Given the description of an element on the screen output the (x, y) to click on. 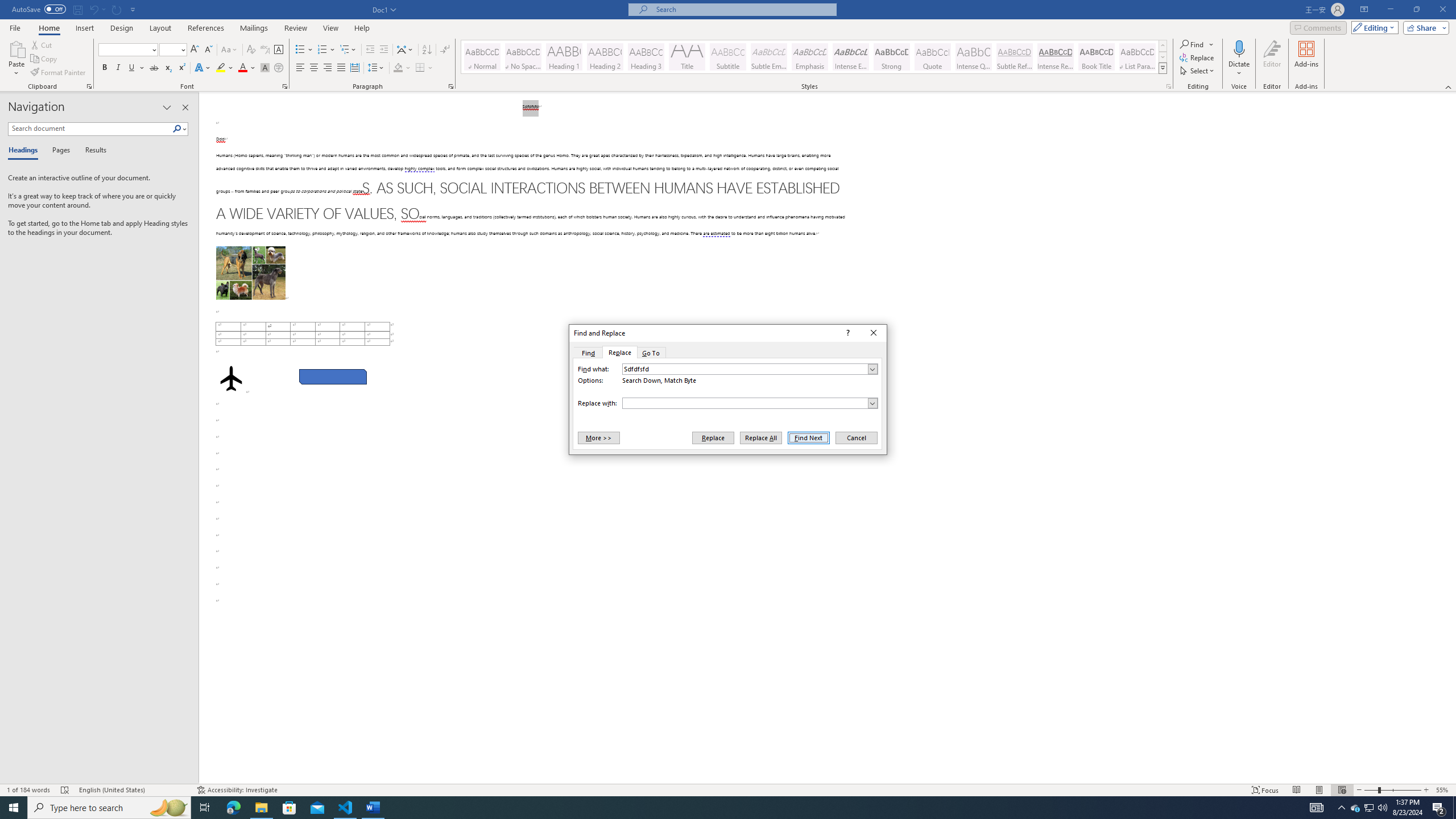
User Promoted Notification Area (1368, 807)
Replace (713, 437)
Character Border (278, 49)
Quote (932, 56)
Borders (424, 67)
Repeat Paragraph Alignment (117, 9)
Increase Indent (383, 49)
Focus  (1265, 790)
Enclose Characters... (278, 67)
Spelling and Grammar Check Errors (65, 790)
Customize Quick Access Toolbar (133, 9)
Text Highlight Color Yellow (220, 67)
Subtitle (727, 56)
